Given the description of an element on the screen output the (x, y) to click on. 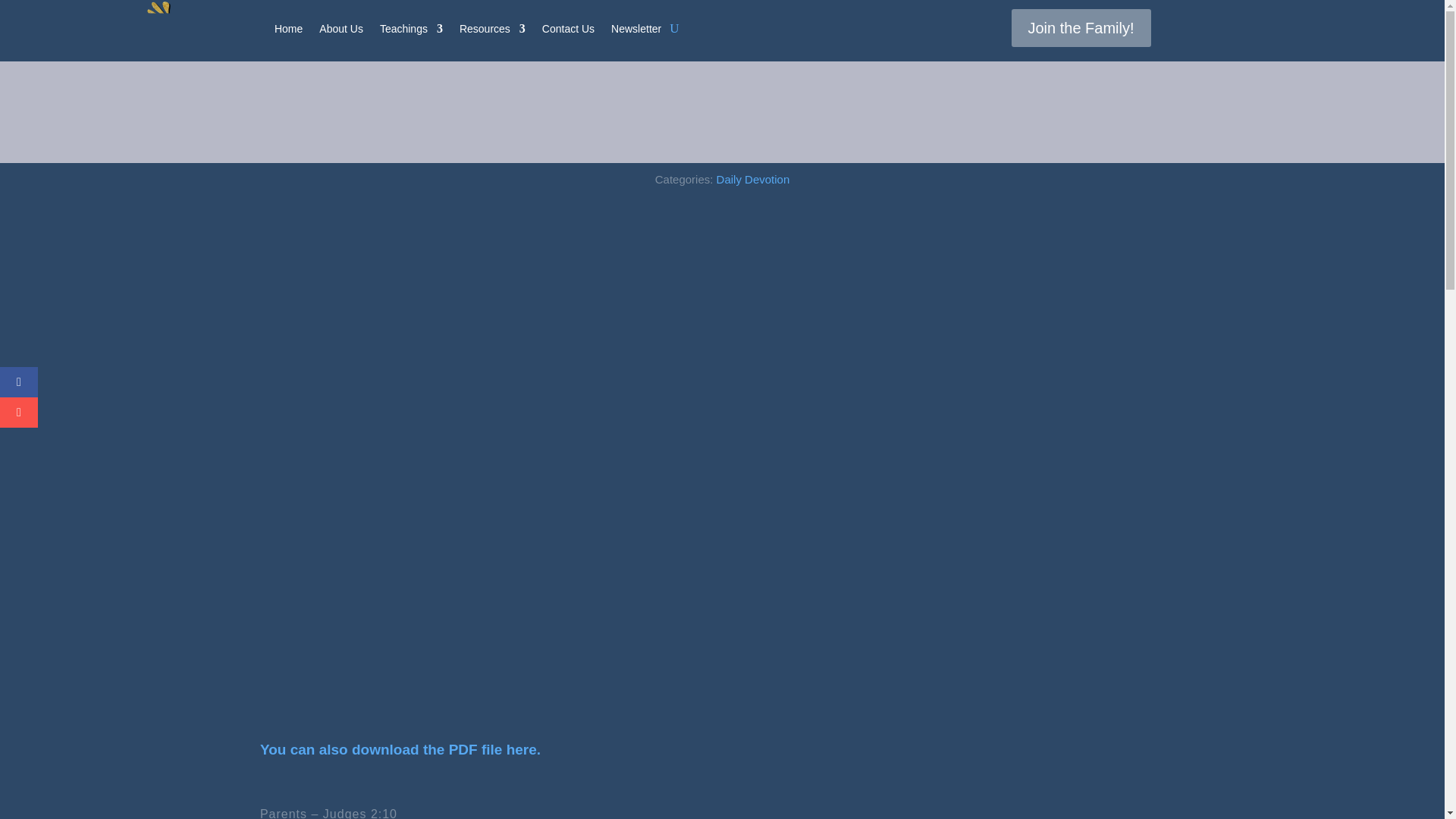
Resources (492, 28)
Teachings (411, 28)
Contact Us (567, 28)
